Given the description of an element on the screen output the (x, y) to click on. 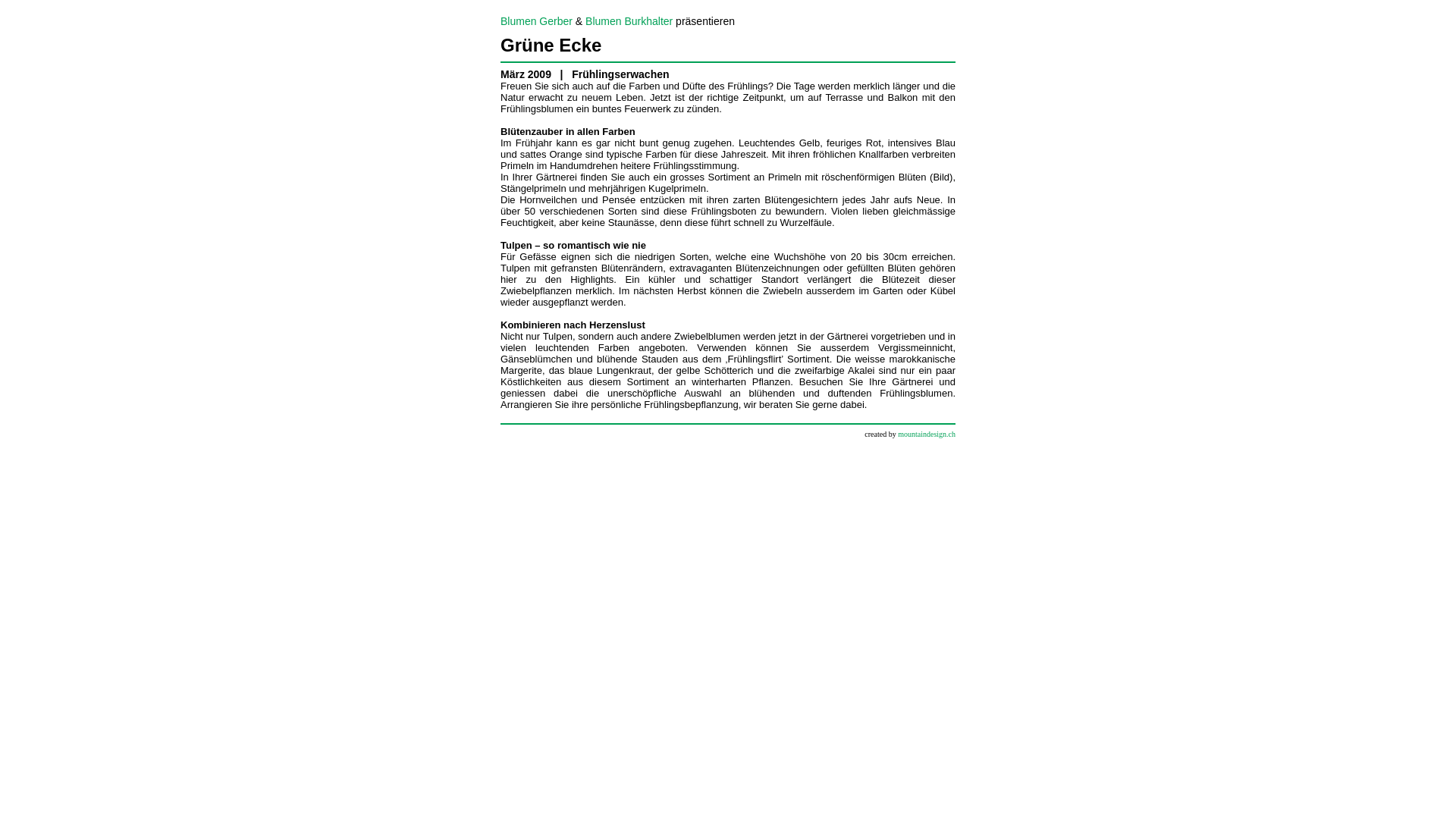
mountaindesign.ch Element type: text (926, 432)
Blumen Burkhalter Element type: text (628, 21)
Blumen Gerber Element type: text (536, 21)
